Given the description of an element on the screen output the (x, y) to click on. 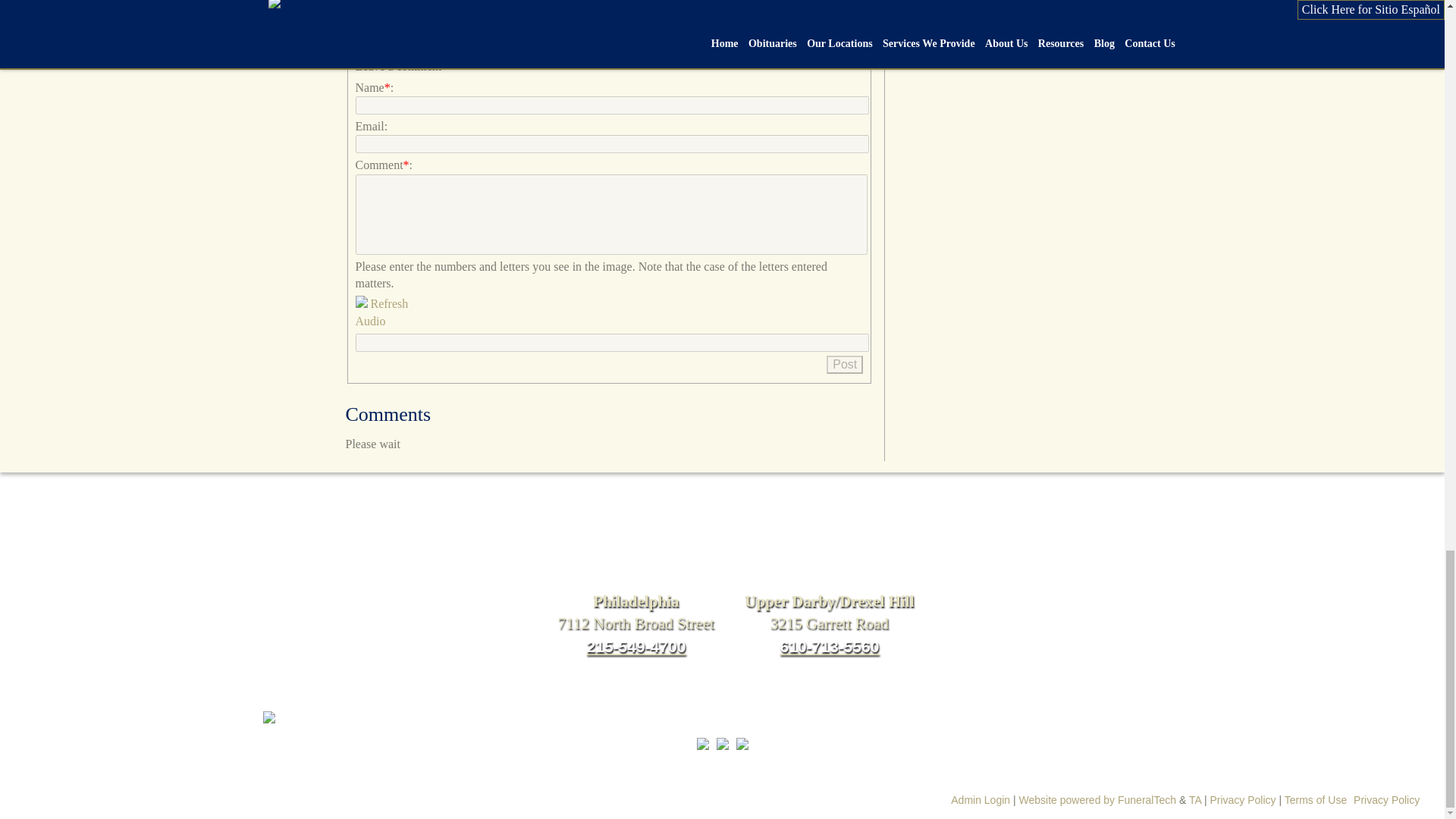
Facebook (357, 40)
Post (845, 364)
Privacy Policy (1386, 799)
Twitter (384, 40)
